Given the description of an element on the screen output the (x, y) to click on. 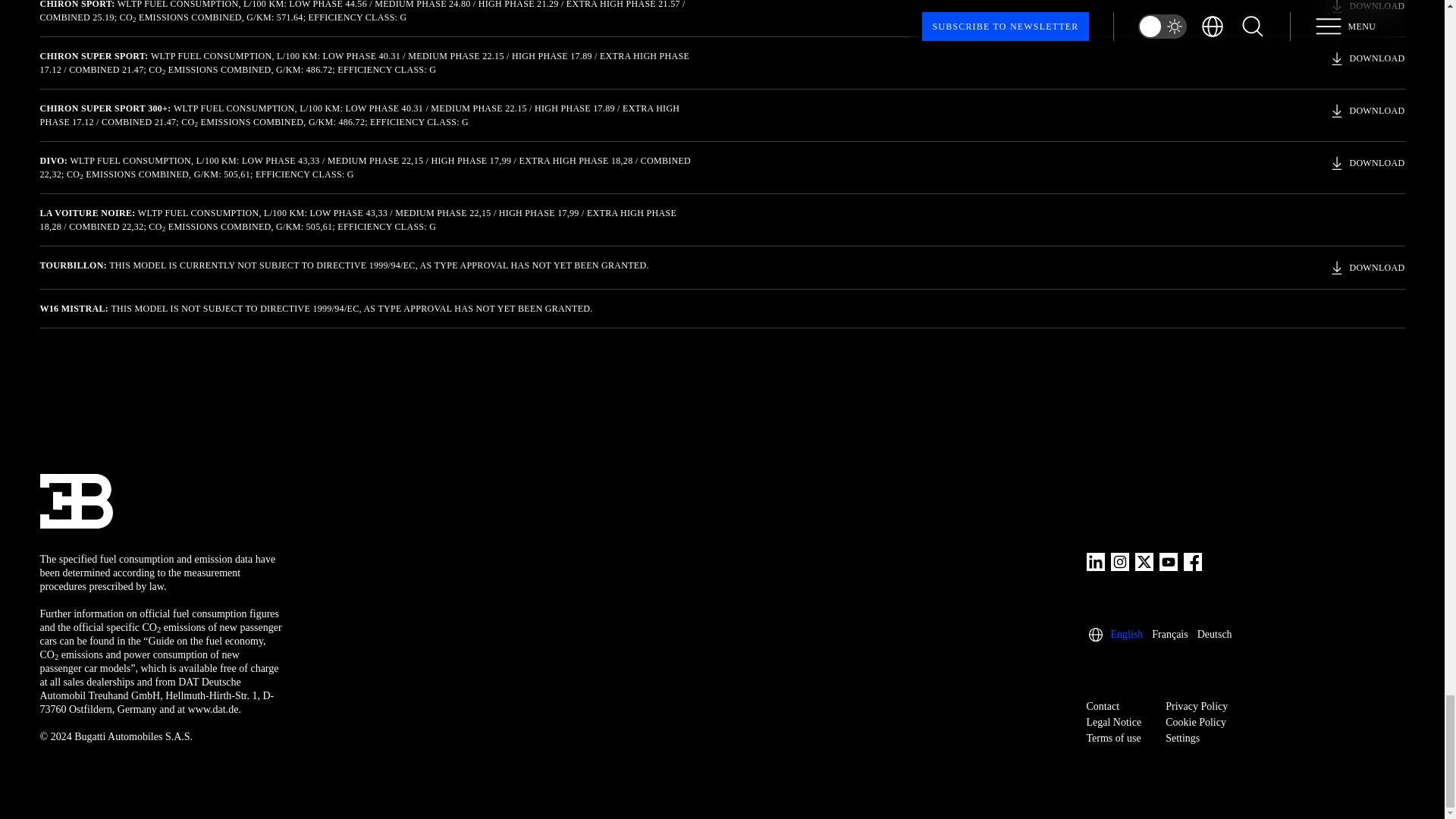
Bugatti on Facebook (1191, 561)
Bugatti on Linkedin (1094, 561)
Bugatti on Facebook (1191, 561)
Bugatti on Linkedin (1094, 561)
DOWNLOAD (1366, 58)
Bugatti on Instagram (1118, 561)
Bugatti on Youtube (1167, 561)
Bugatti on Youtube (1167, 561)
Bugatti on X (1143, 561)
Bugatti on X (1143, 561)
Deutsch (1213, 633)
DOWNLOAD (1366, 7)
DOWNLOAD (1366, 162)
DOWNLOAD (1366, 110)
DOWNLOAD (1366, 267)
